Given the description of an element on the screen output the (x, y) to click on. 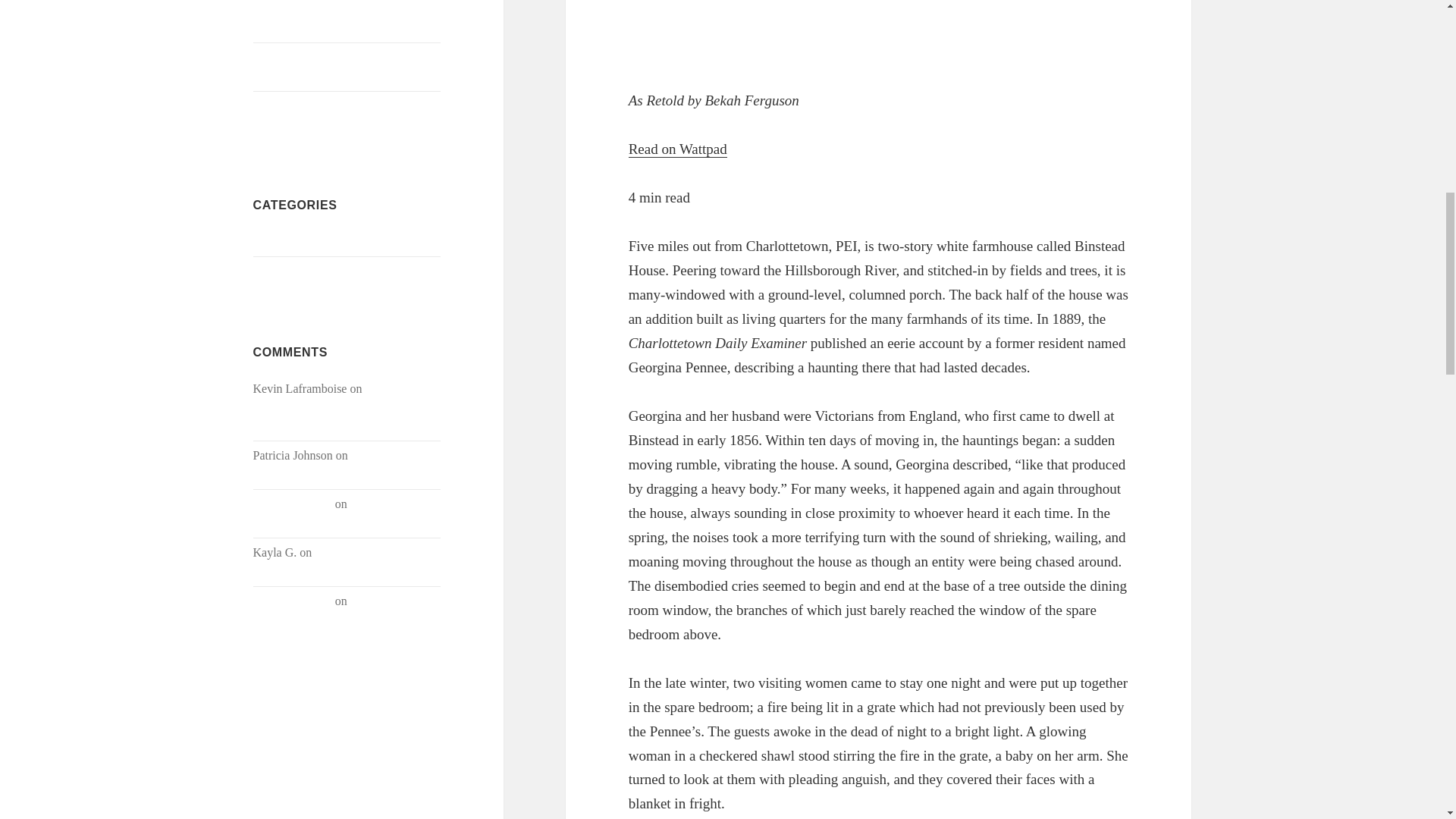
The Haunting of Binstead House, PEI (878, 37)
Mary Gallagher, the Headless Ghost of Griffintown (341, 65)
Diary of a Former Hypochondriac (345, 512)
The Canadian Lizard Man of Vancouver Island (323, 114)
Short Stories (284, 271)
Bekah Ferguson (292, 600)
Mary Gallagher, the Headless Ghost of Griffintown (333, 406)
Diary of a Former Hypochondriac (328, 561)
Bekah Ferguson (292, 503)
Read on Wattpad (677, 149)
